Given the description of an element on the screen output the (x, y) to click on. 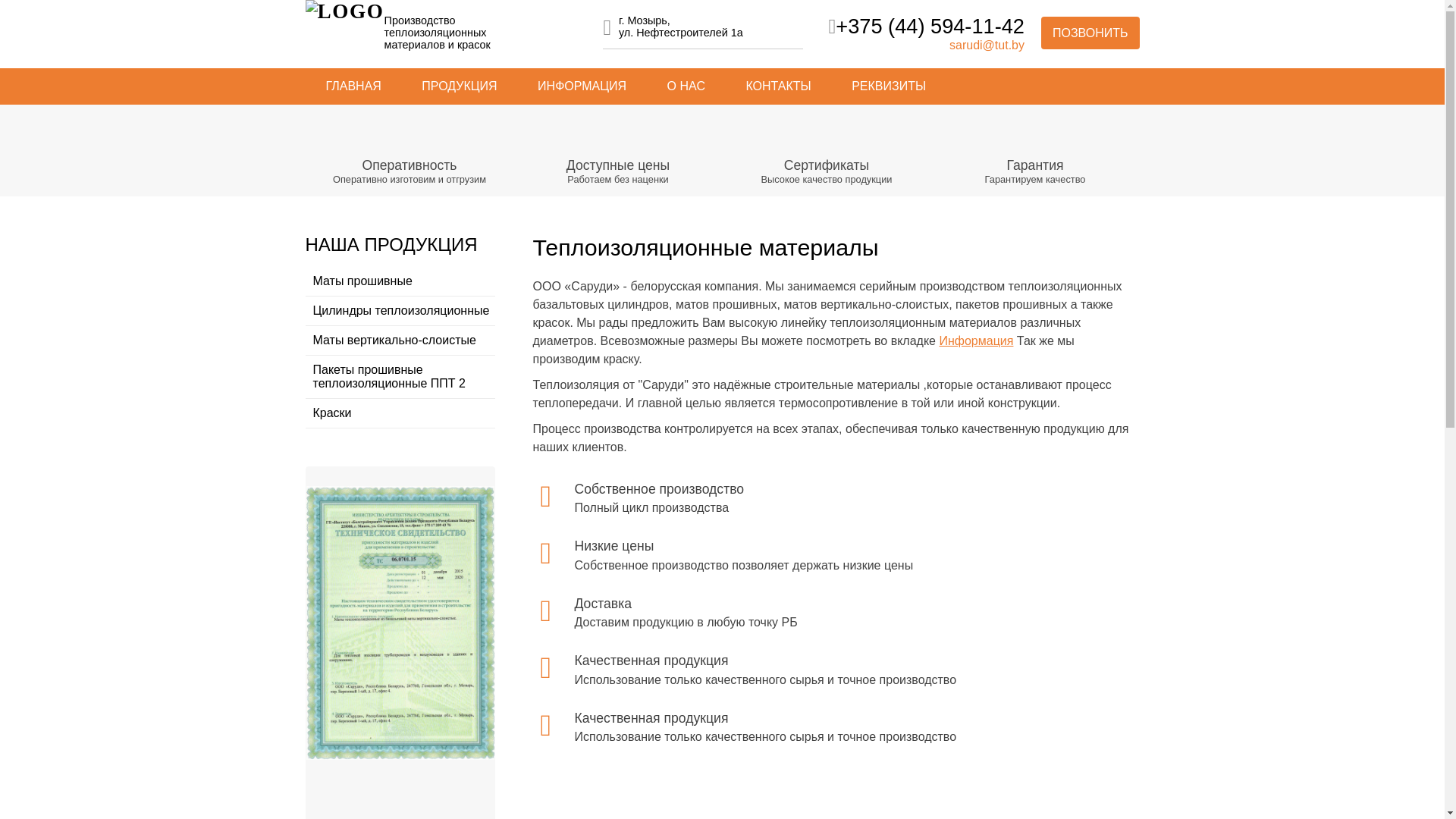
sarudi@tut.by Element type: text (986, 44)
